Given the description of an element on the screen output the (x, y) to click on. 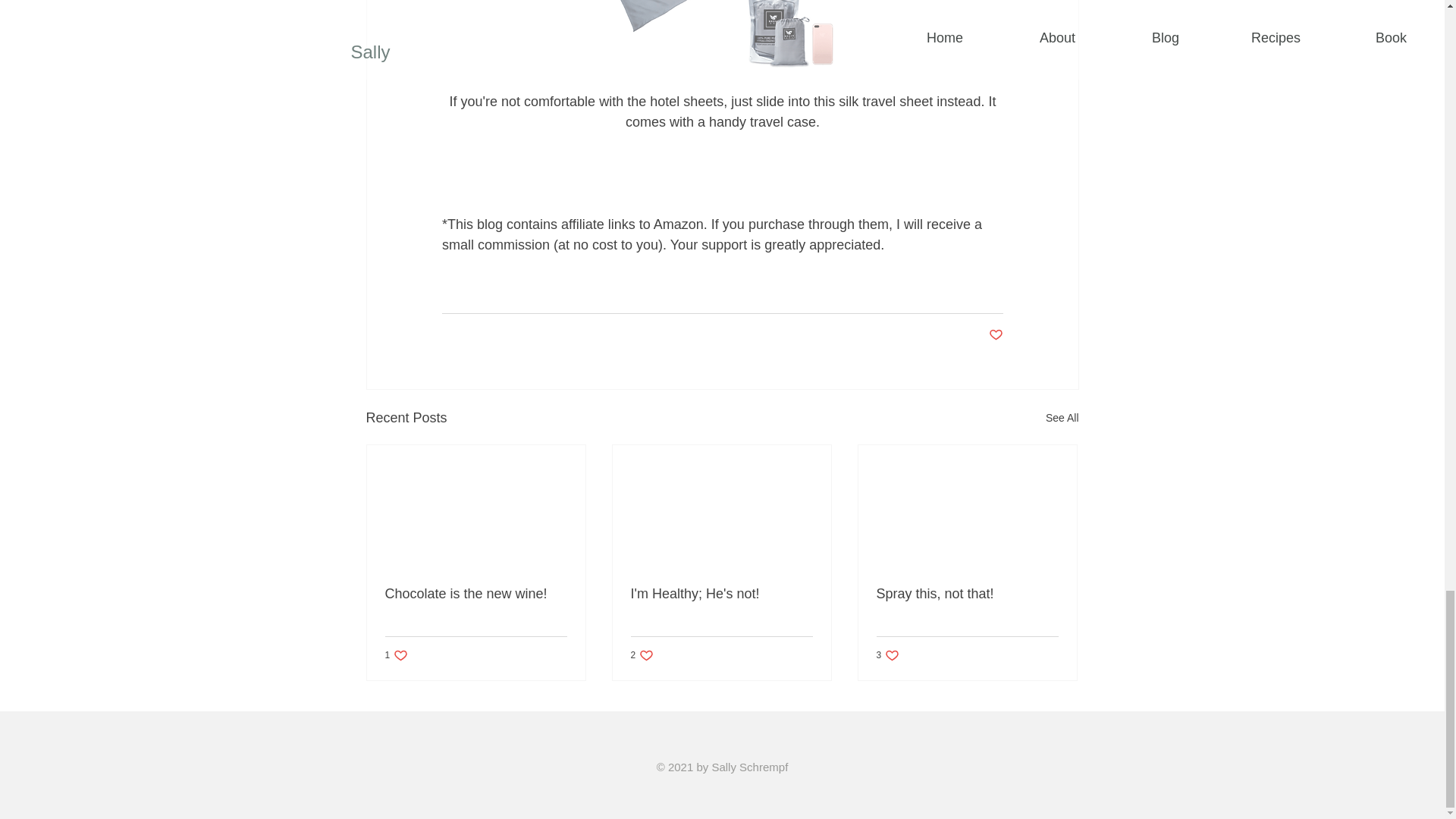
See All (1061, 418)
Spray this, not that! (967, 593)
I'm Healthy; He's not! (721, 593)
Chocolate is the new wine! (397, 655)
Post not marked as liked (887, 655)
